Given the description of an element on the screen output the (x, y) to click on. 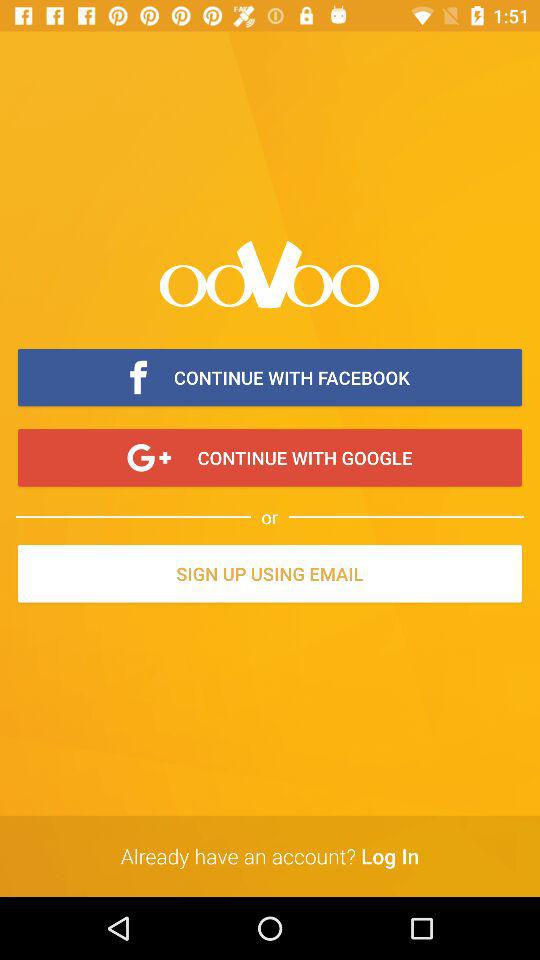
turn on the sign up using item (269, 575)
